Given the description of an element on the screen output the (x, y) to click on. 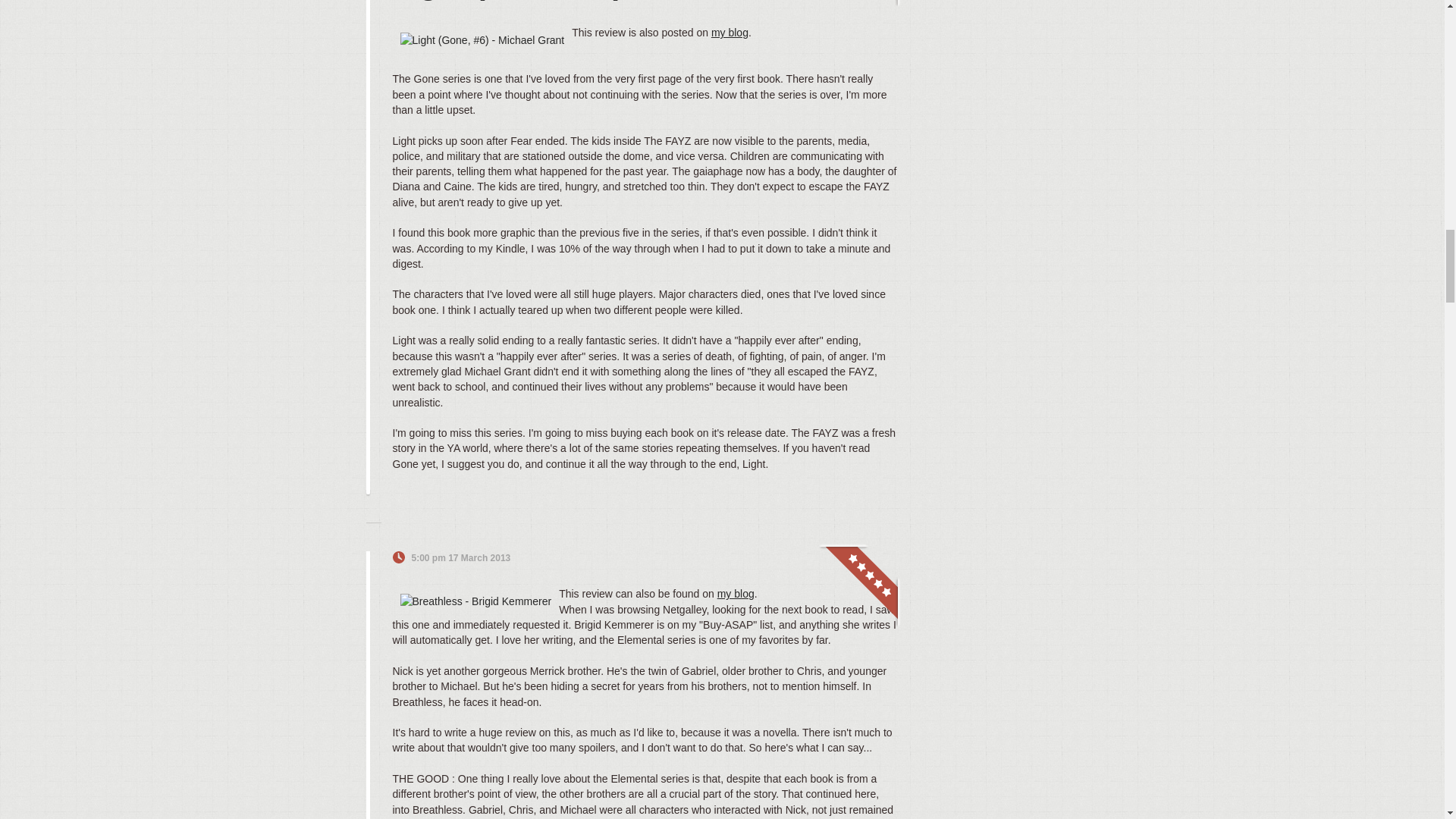
my blog (735, 593)
5:00 pm 17 March 2013 (460, 557)
Tweet (849, 557)
my blog (729, 32)
